Given the description of an element on the screen output the (x, y) to click on. 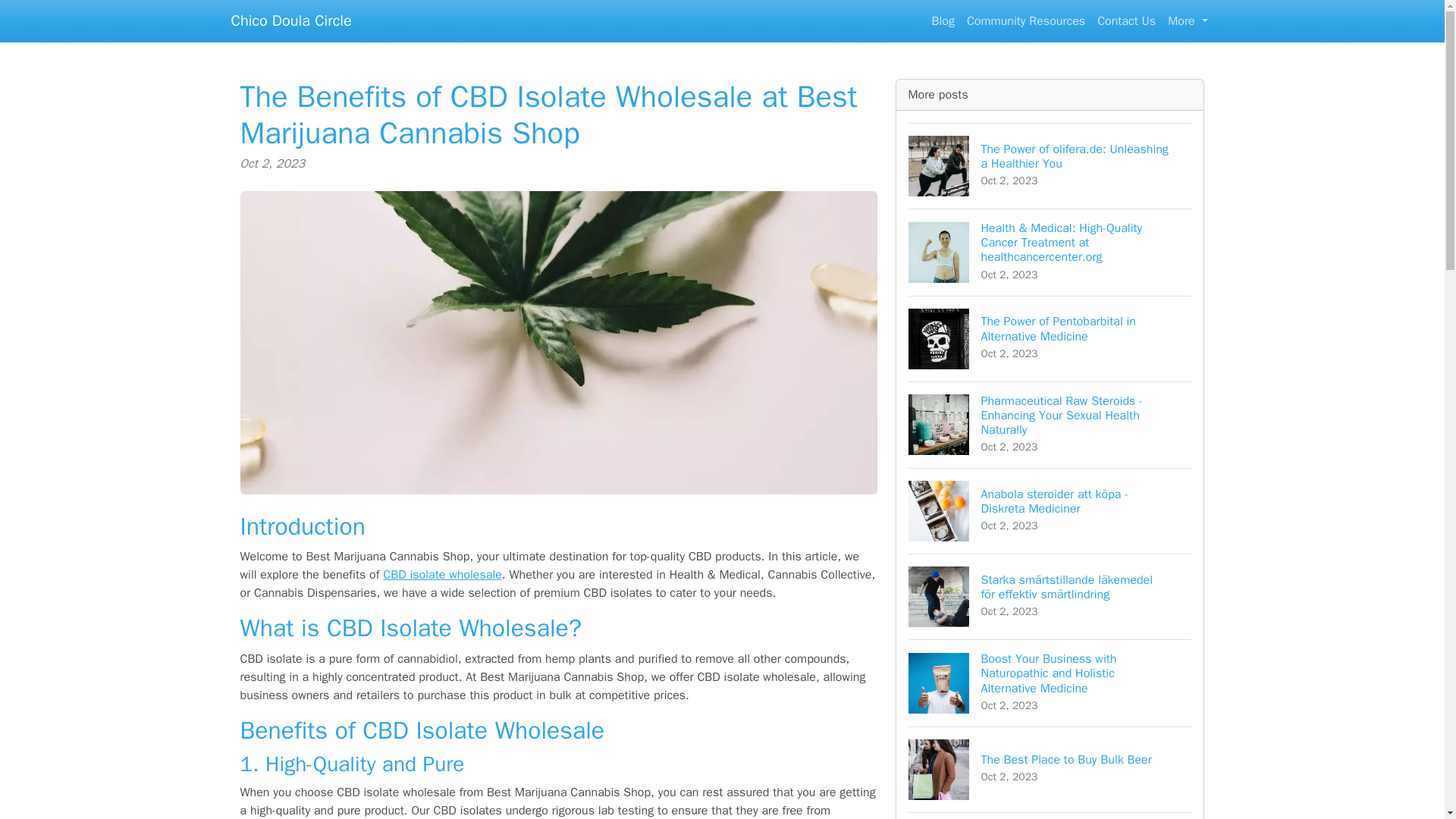
More (1186, 20)
Community Resources (1050, 769)
Blog (1025, 20)
Contact Us (943, 20)
Chico Doula Circle (1125, 20)
CBD isolate wholesale (290, 20)
